Given the description of an element on the screen output the (x, y) to click on. 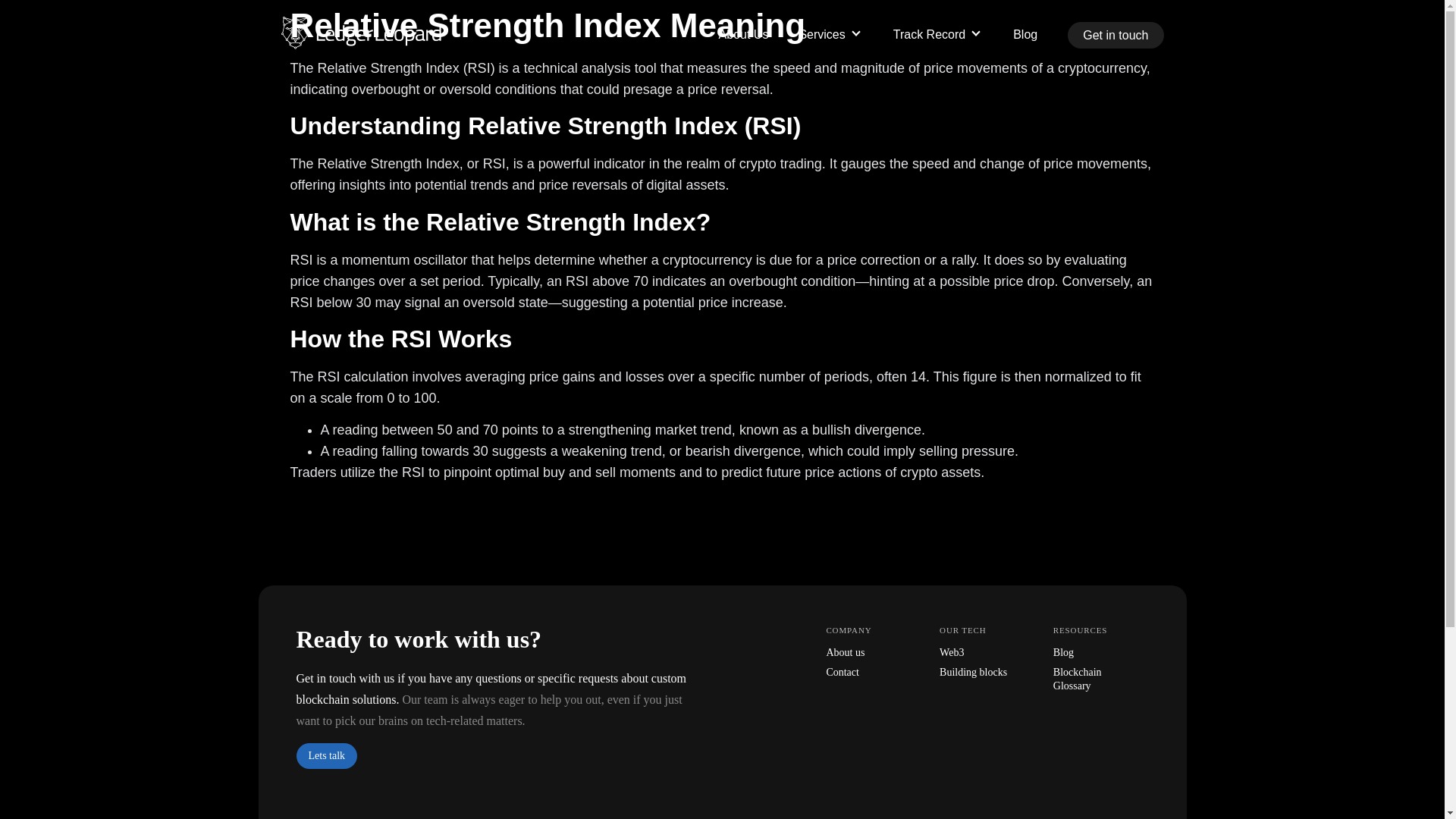
Get in touch (1115, 35)
Services (829, 34)
Track Record (937, 34)
About Us (743, 34)
Blog (1024, 34)
